Given the description of an element on the screen output the (x, y) to click on. 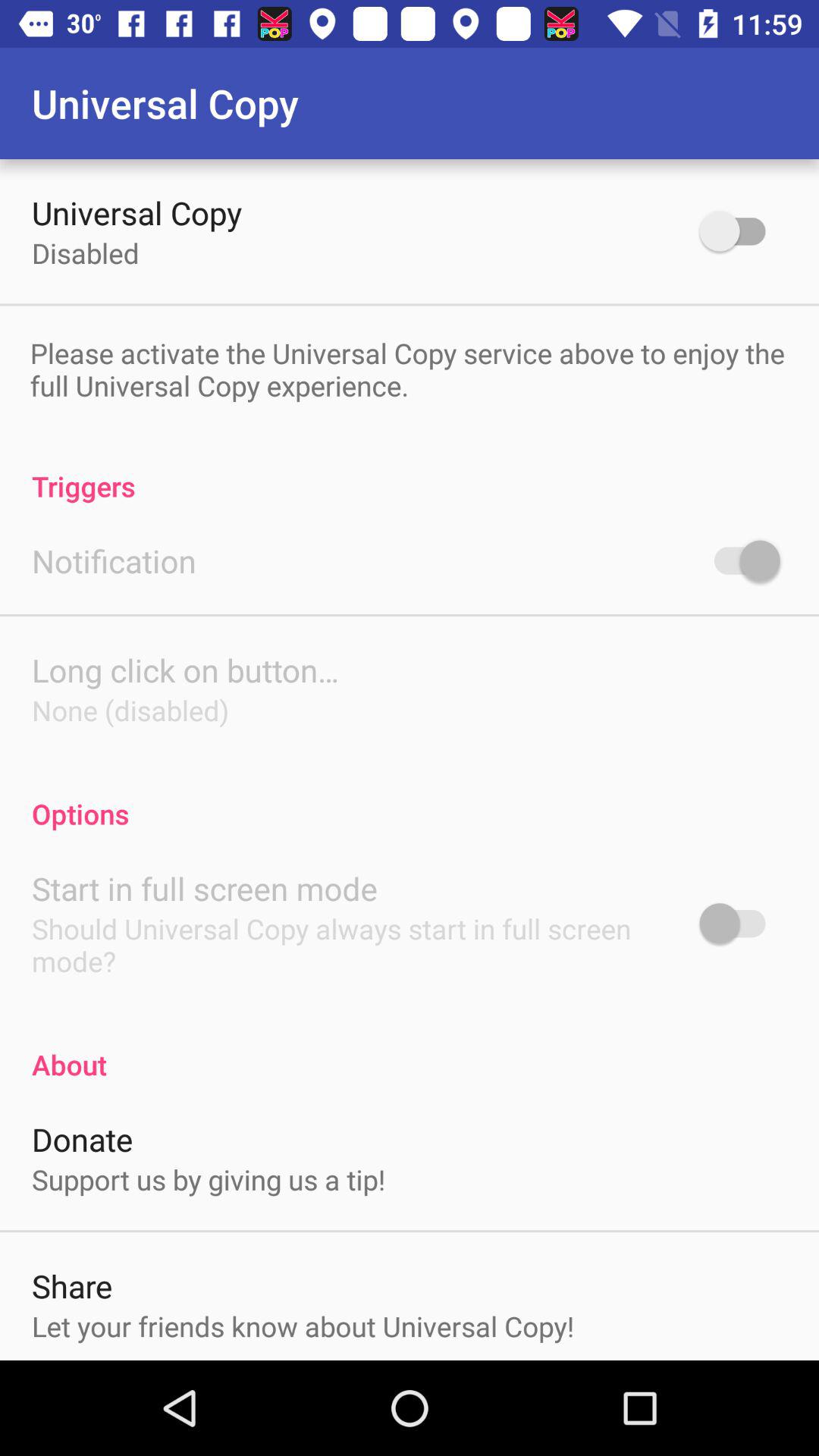
launch icon above the triggers (408, 369)
